Given the description of an element on the screen output the (x, y) to click on. 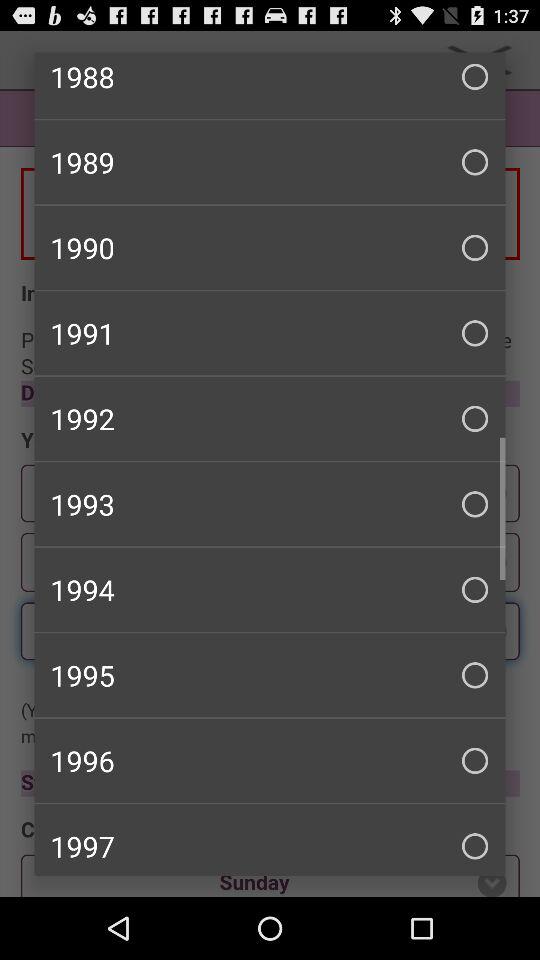
click 1991 checkbox (269, 333)
